Given the description of an element on the screen output the (x, y) to click on. 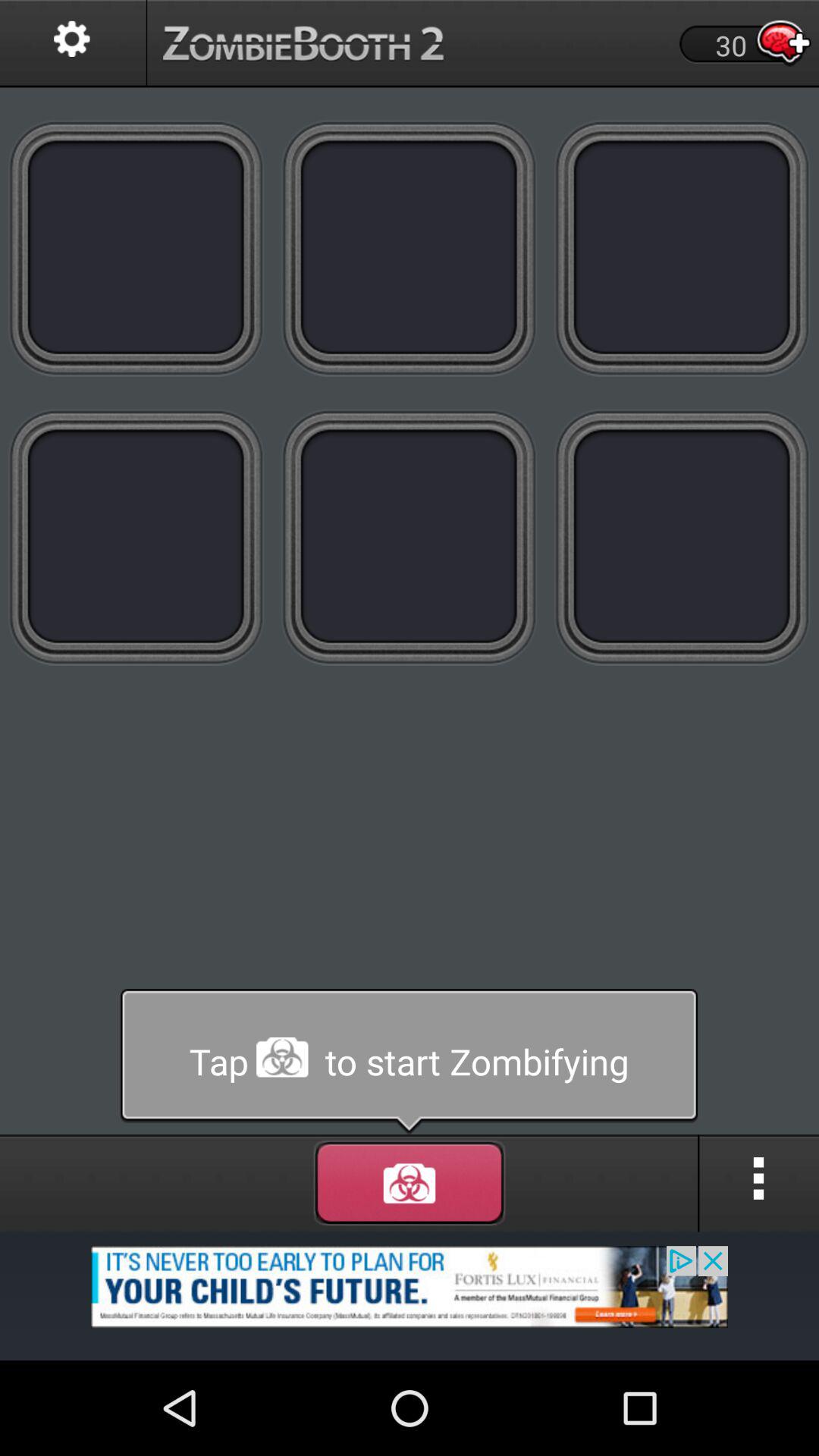
game page (682, 247)
